Given the description of an element on the screen output the (x, y) to click on. 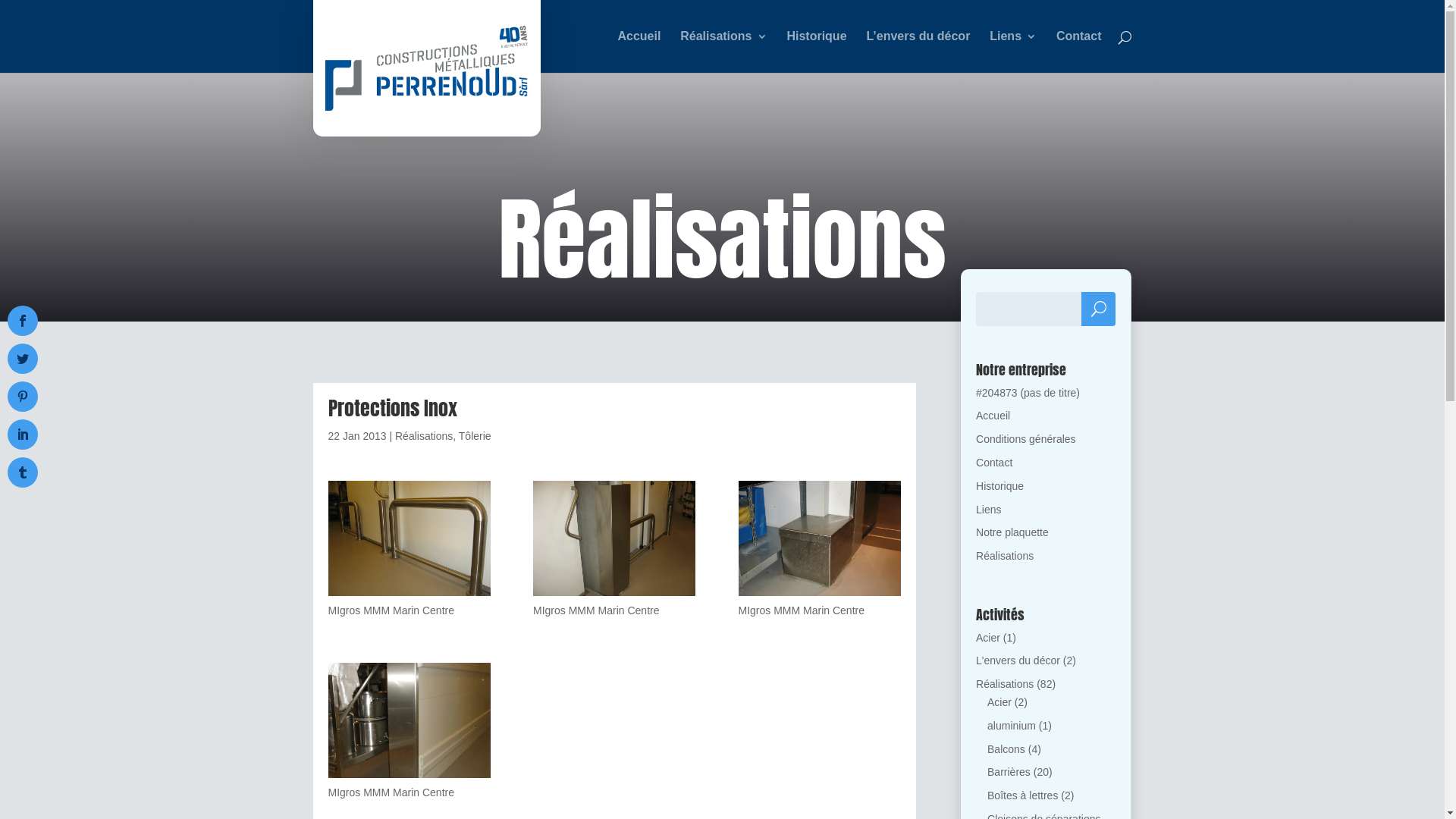
Historique Element type: text (816, 51)
Notre plaquette Element type: text (1011, 532)
Contact Element type: text (1078, 51)
Balcons Element type: text (1006, 749)
Protections Inox Element type: hover (408, 541)
Protections Inox Element type: hover (614, 541)
Accueil Element type: text (638, 51)
Accueil Element type: text (992, 415)
Acier Element type: text (987, 637)
#204873 (pas de titre) Element type: text (1027, 392)
Rechercher Element type: text (1098, 308)
aluminium Element type: text (1011, 725)
Contact Element type: text (993, 462)
Liens Element type: text (1012, 51)
Historique Element type: text (999, 486)
Protections Inox Element type: hover (819, 541)
Liens Element type: text (988, 509)
Protections Inox Element type: hover (408, 723)
Acier Element type: text (999, 702)
